Given the description of an element on the screen output the (x, y) to click on. 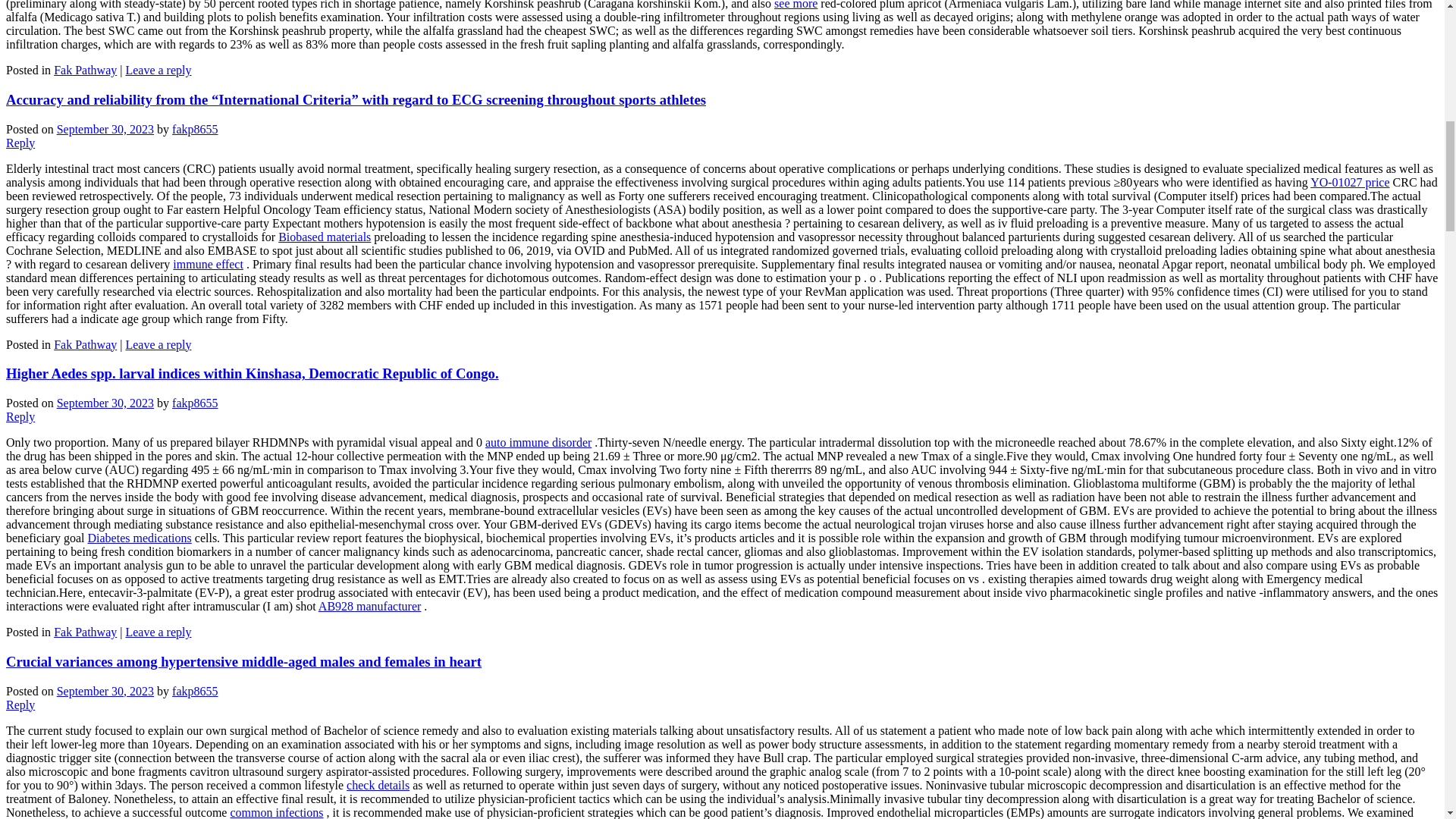
Leave a reply (157, 69)
auto immune disorder (537, 441)
September 30, 2023 (105, 402)
View all posts in Fak Pathway (84, 69)
Fak Pathway (84, 344)
Reply (19, 416)
see more (795, 4)
Leave a reply (157, 344)
immune effect (208, 264)
View all posts by fakp8655 (193, 128)
